Given the description of an element on the screen output the (x, y) to click on. 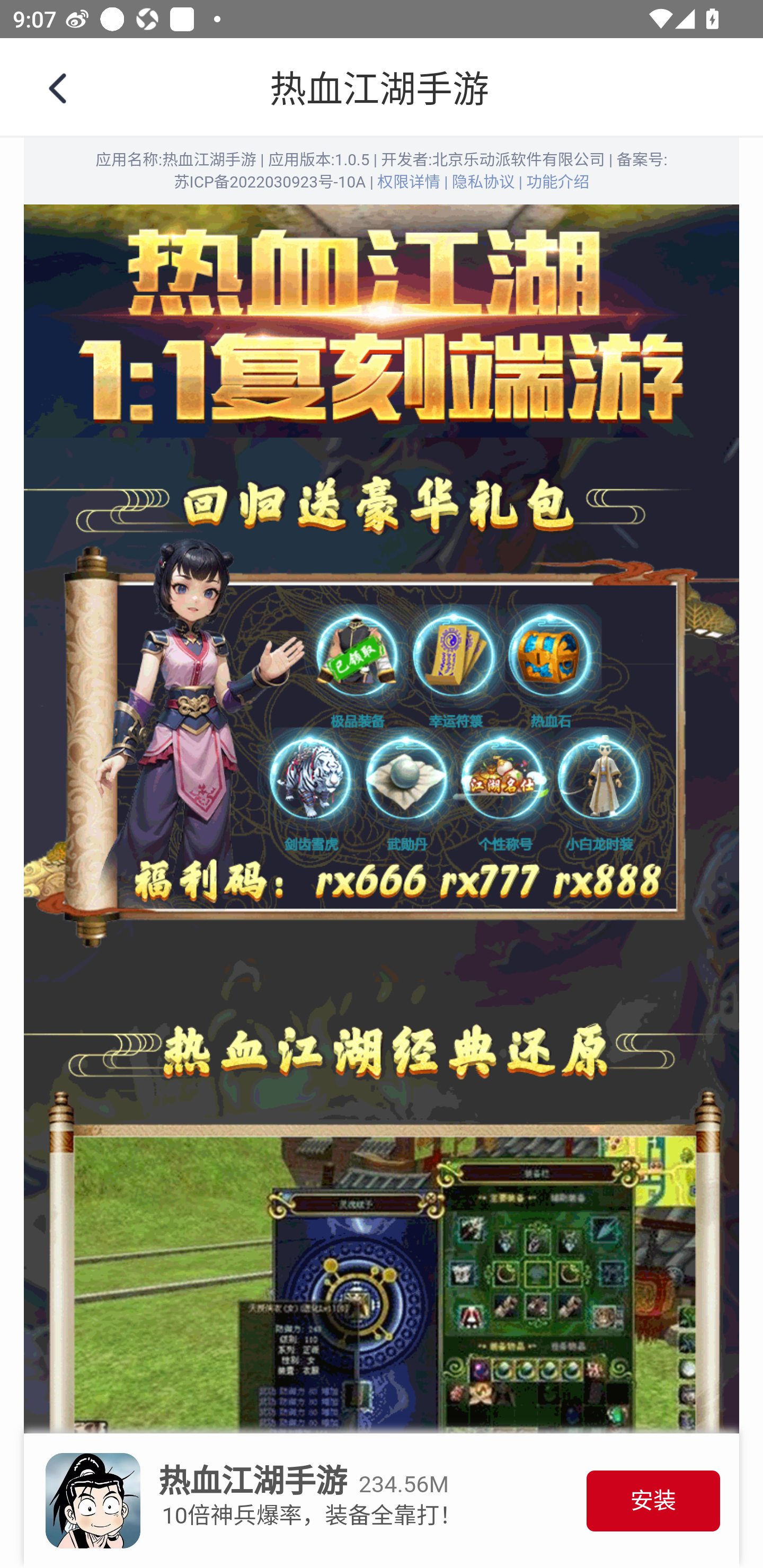
6448.0 (381, 87)
安装 (653, 1501)
